Given the description of an element on the screen output the (x, y) to click on. 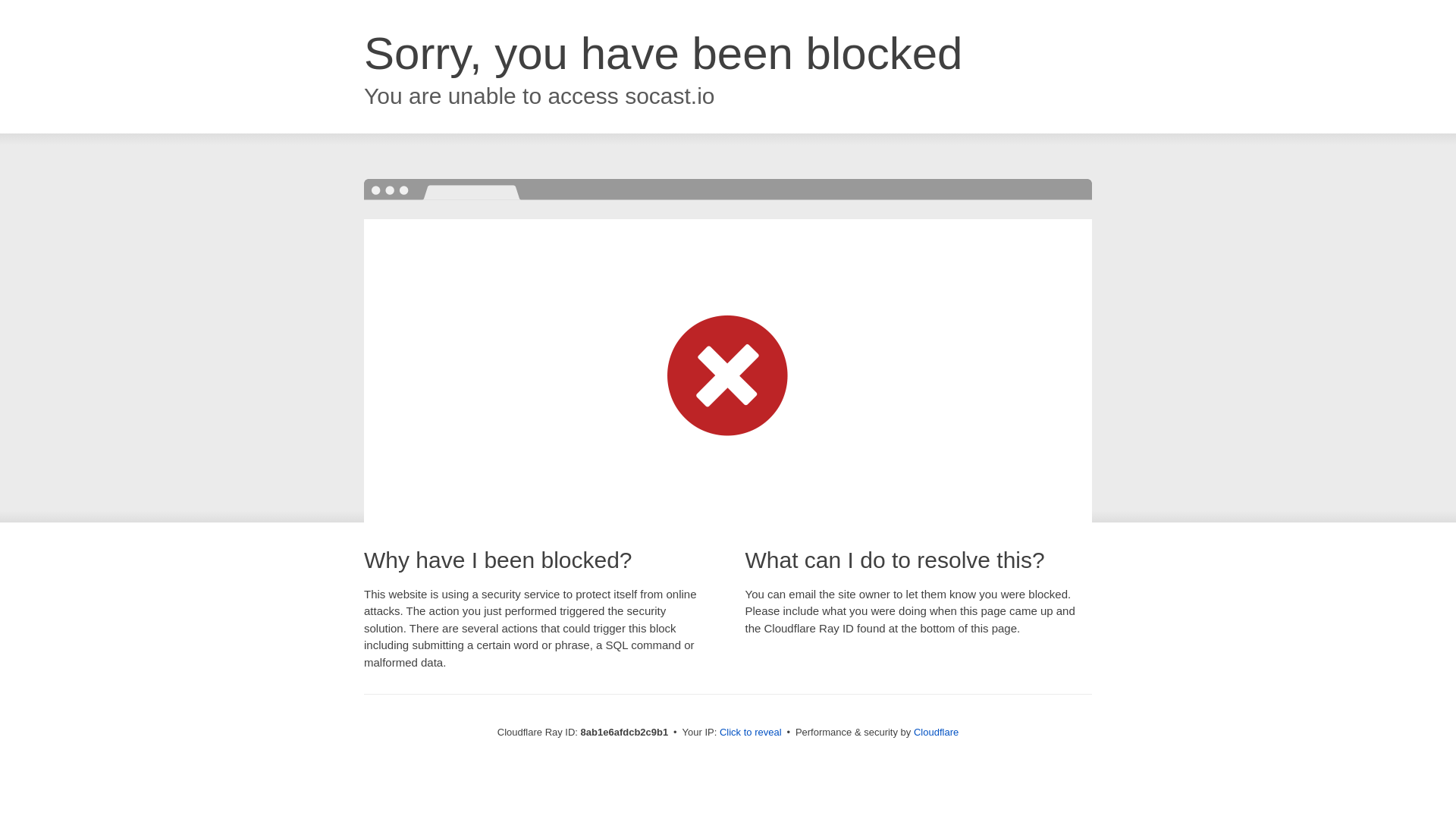
Click to reveal (750, 732)
Cloudflare (936, 731)
